Given the description of an element on the screen output the (x, y) to click on. 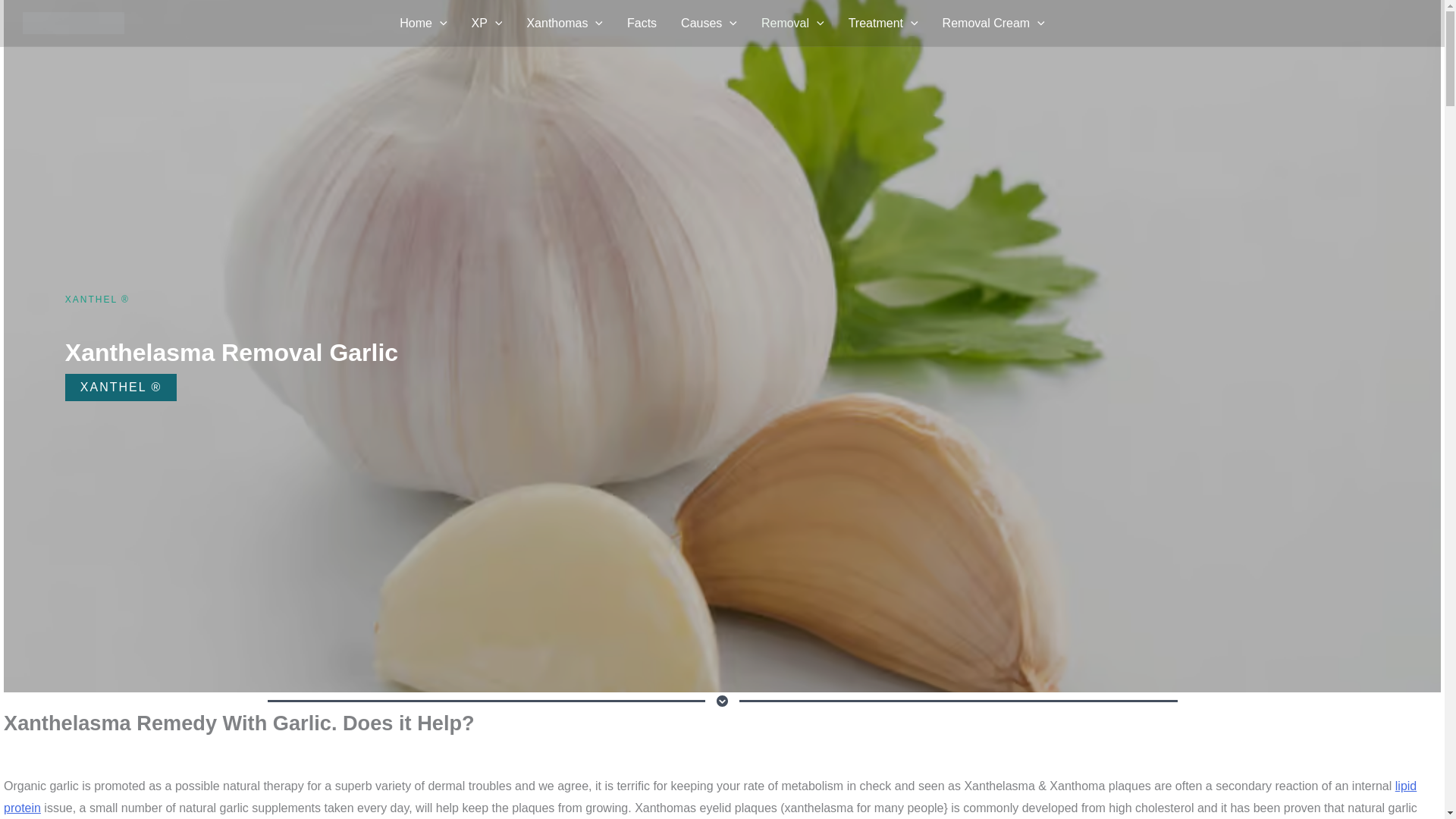
Facts (641, 23)
XP (487, 23)
Xanthomas (563, 23)
Home (422, 23)
Causes (708, 23)
Removal (792, 23)
